Given the description of an element on the screen output the (x, y) to click on. 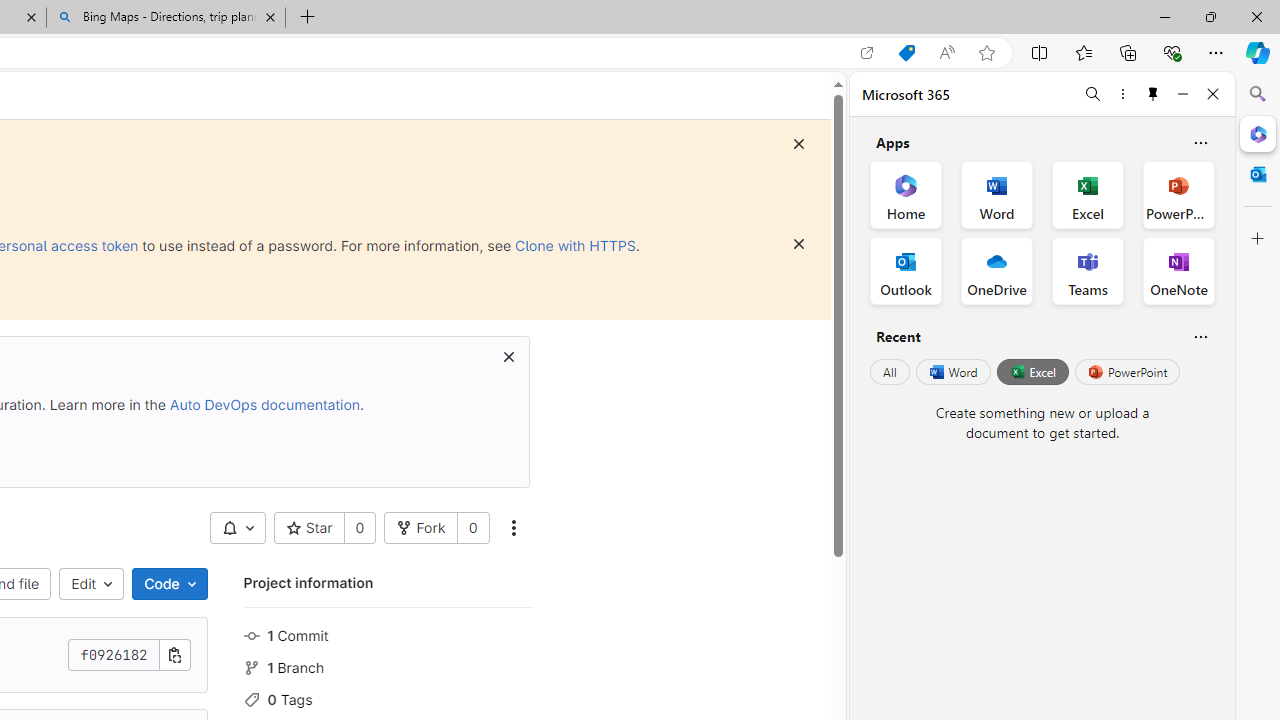
Word Office App (996, 194)
Is this helpful? (1200, 336)
0 (472, 527)
1 Branch (387, 665)
PowerPoint (1127, 372)
Teams Office App (1087, 270)
